Given the description of an element on the screen output the (x, y) to click on. 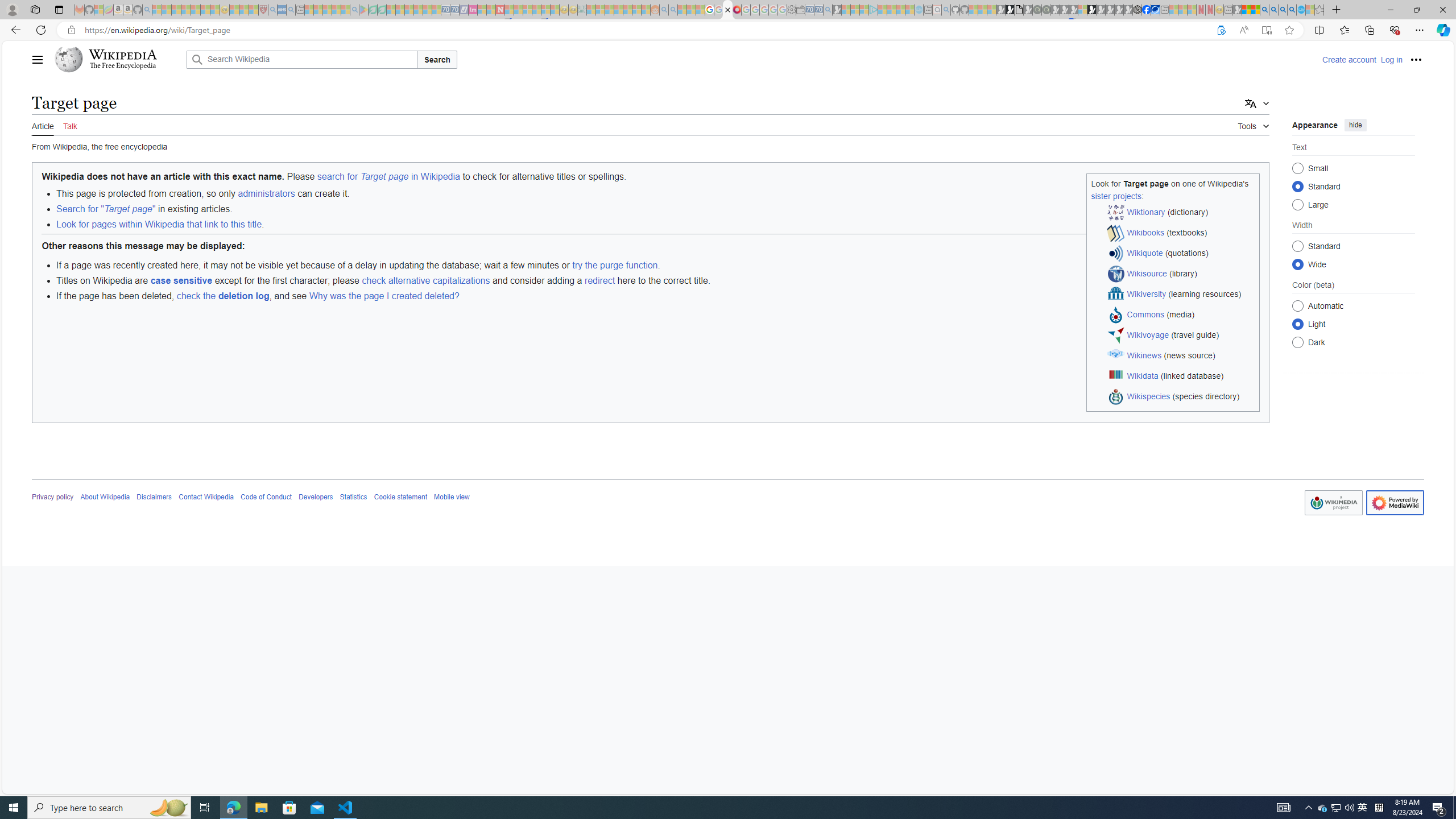
Bing Real Estate - Home sales and rental listings - Sleeping (827, 9)
Wikidata (1142, 375)
Code of Conduct (265, 496)
Enter Immersive Reader (F9) (1266, 29)
Powered by MediaWiki (1394, 502)
Statistics (352, 497)
Article (42, 124)
Latest Politics News & Archive | Newsweek.com - Sleeping (499, 9)
Nordace - Cooler Bags (1137, 9)
AutomationID: footer-copyrightico (1333, 502)
Log in (1391, 58)
